Given the description of an element on the screen output the (x, y) to click on. 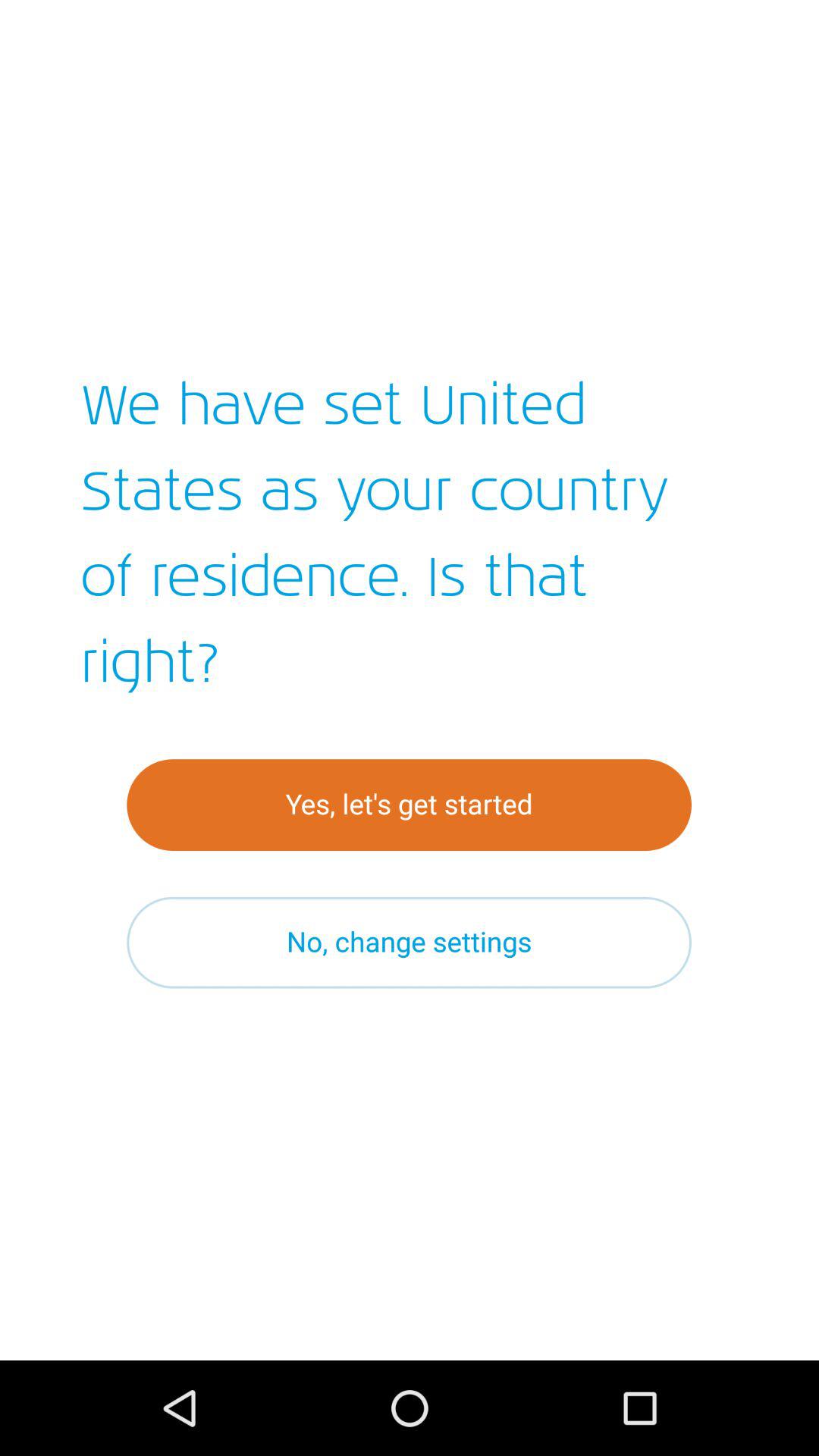
open the icon below yes let s item (408, 942)
